Given the description of an element on the screen output the (x, y) to click on. 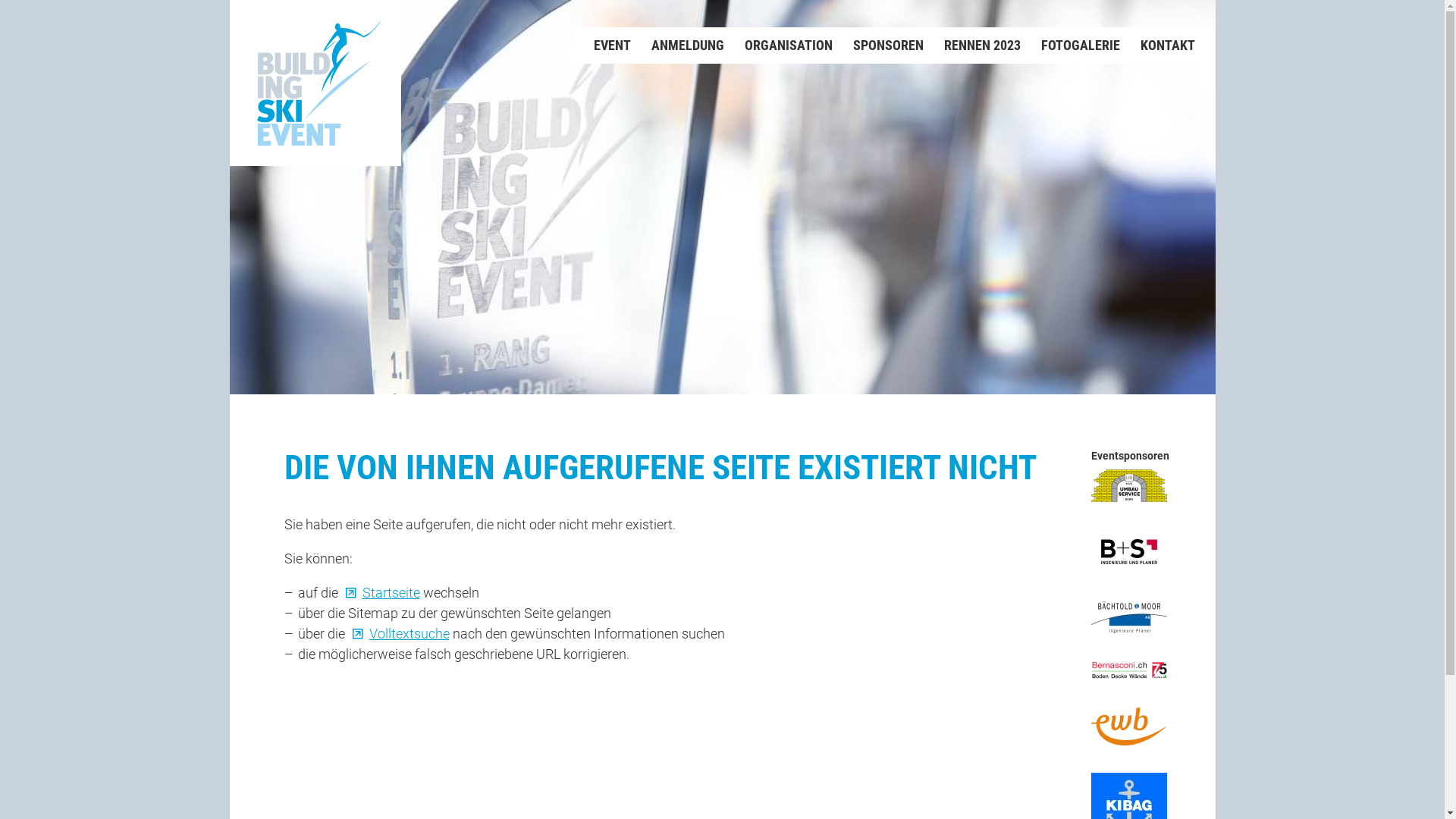
Sponsor Element type: hover (1128, 485)
RENNEN 2023 Element type: text (971, 45)
FOTOGALERIE Element type: text (1070, 45)
EVENT Element type: text (601, 45)
Sponsor Element type: hover (1128, 670)
Sponsor Element type: hover (1128, 617)
ANMELDUNG Element type: text (677, 45)
Startseite Element type: text (380, 591)
Sponsor Element type: hover (1128, 726)
SPONSOREN Element type: text (877, 45)
Zur Startseite Element type: hover (315, 83)
Sponsor Element type: hover (1128, 551)
KONTAKT Element type: text (1156, 45)
ORGANISATION Element type: text (777, 45)
Volltextsuche Element type: text (397, 632)
